Given the description of an element on the screen output the (x, y) to click on. 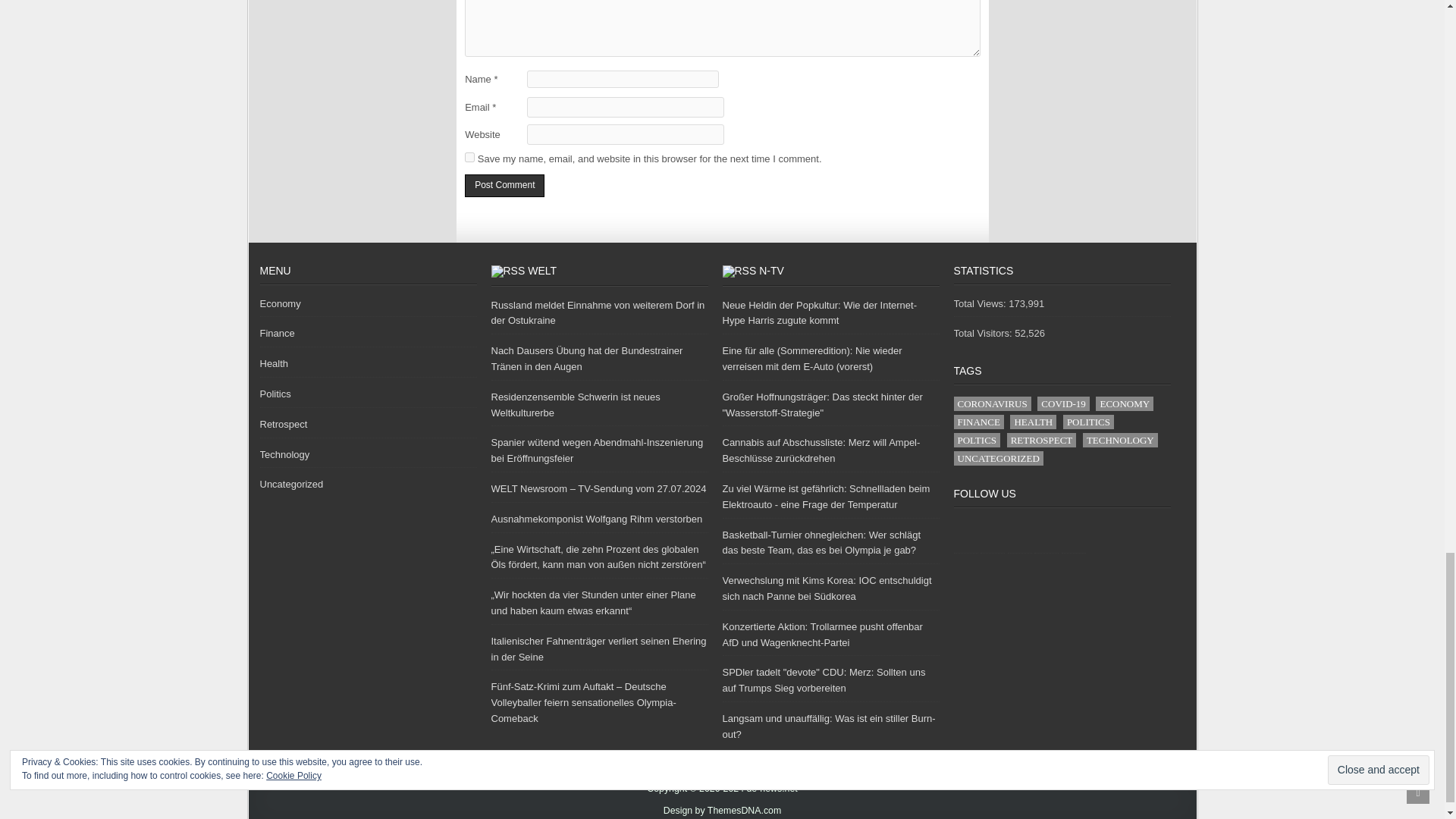
yes (469, 157)
Post Comment (504, 186)
Post Comment (504, 186)
